Given the description of an element on the screen output the (x, y) to click on. 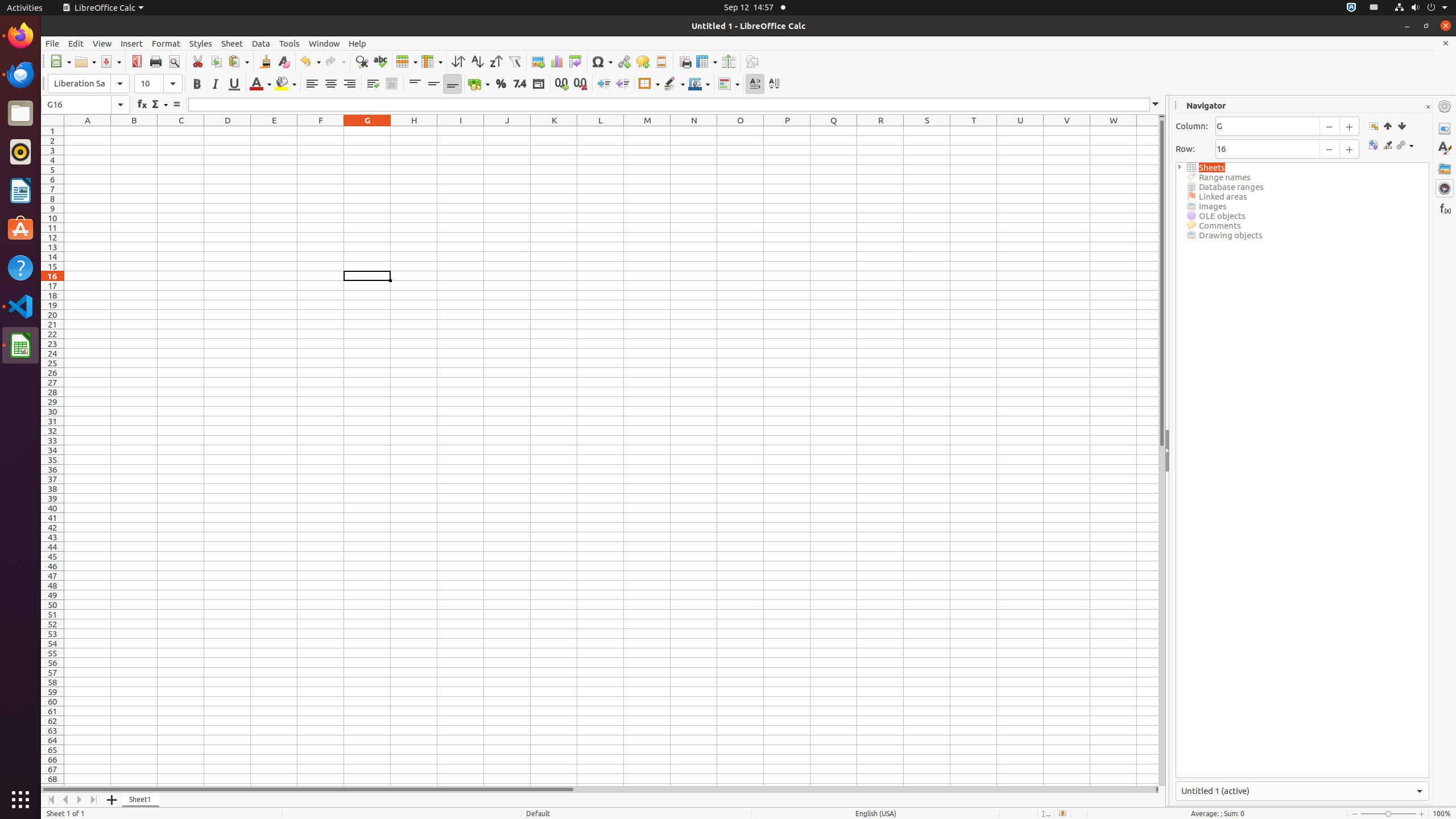
Insert Element type: menu (131, 43)
Copy Element type: push-button (216, 61)
Hyperlink Element type: toggle-button (623, 61)
Function Wizard Element type: push-button (141, 104)
Row Element type: push-button (406, 61)
